Given the description of an element on the screen output the (x, y) to click on. 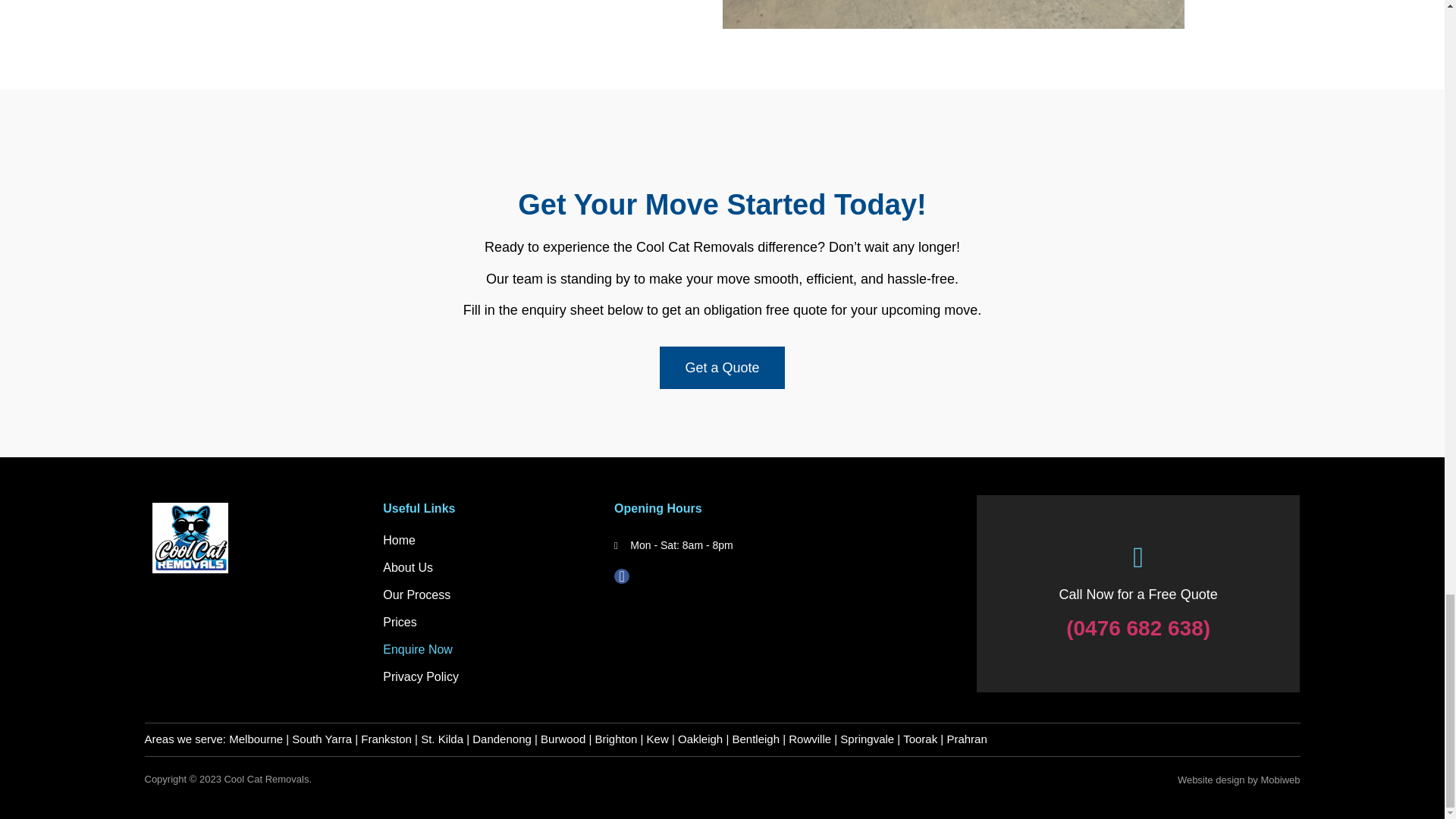
South Yarra (322, 738)
Home (490, 540)
Our Process (490, 595)
Enquire Now (490, 649)
About Us (490, 567)
Website design by Mobiweb (1238, 779)
Privacy Policy  (490, 676)
Get a Quote (721, 367)
Frankston (386, 738)
Prices (490, 622)
